Given the description of an element on the screen output the (x, y) to click on. 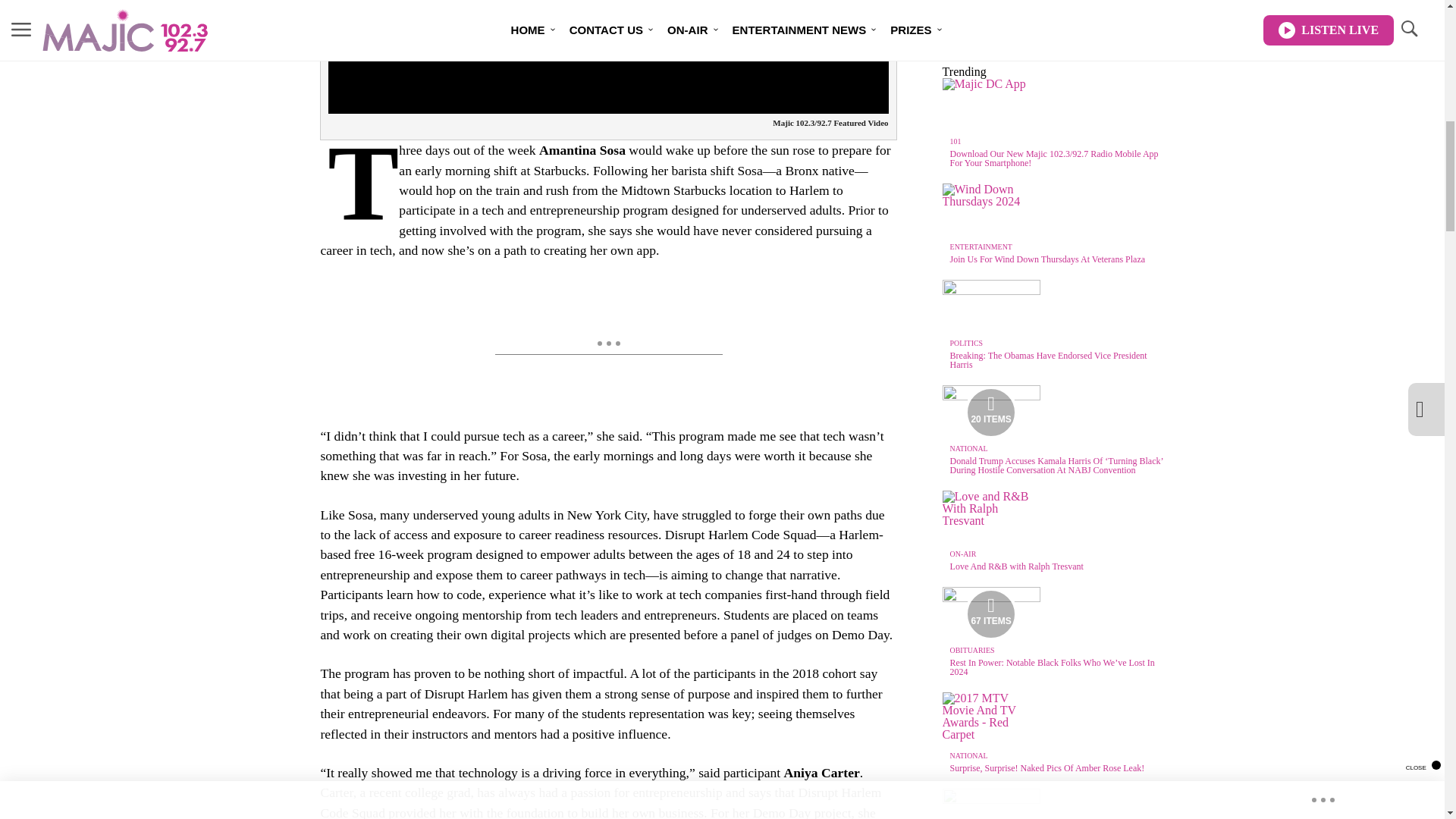
Media Playlist (990, 614)
Media Playlist (990, 411)
